Given the description of an element on the screen output the (x, y) to click on. 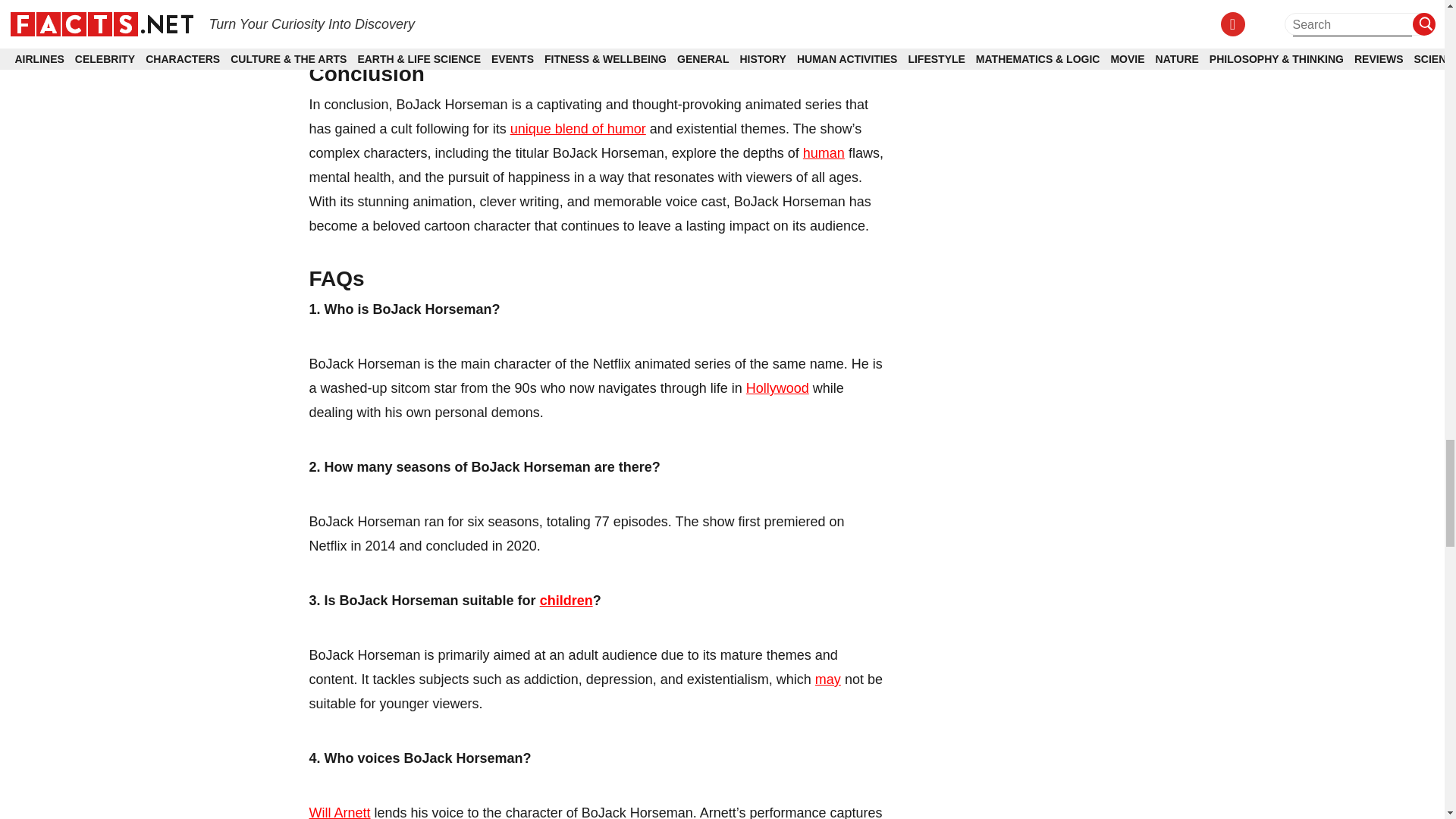
children (566, 600)
Hollywood (777, 387)
unique blend of humor (578, 128)
human (823, 152)
